Given the description of an element on the screen output the (x, y) to click on. 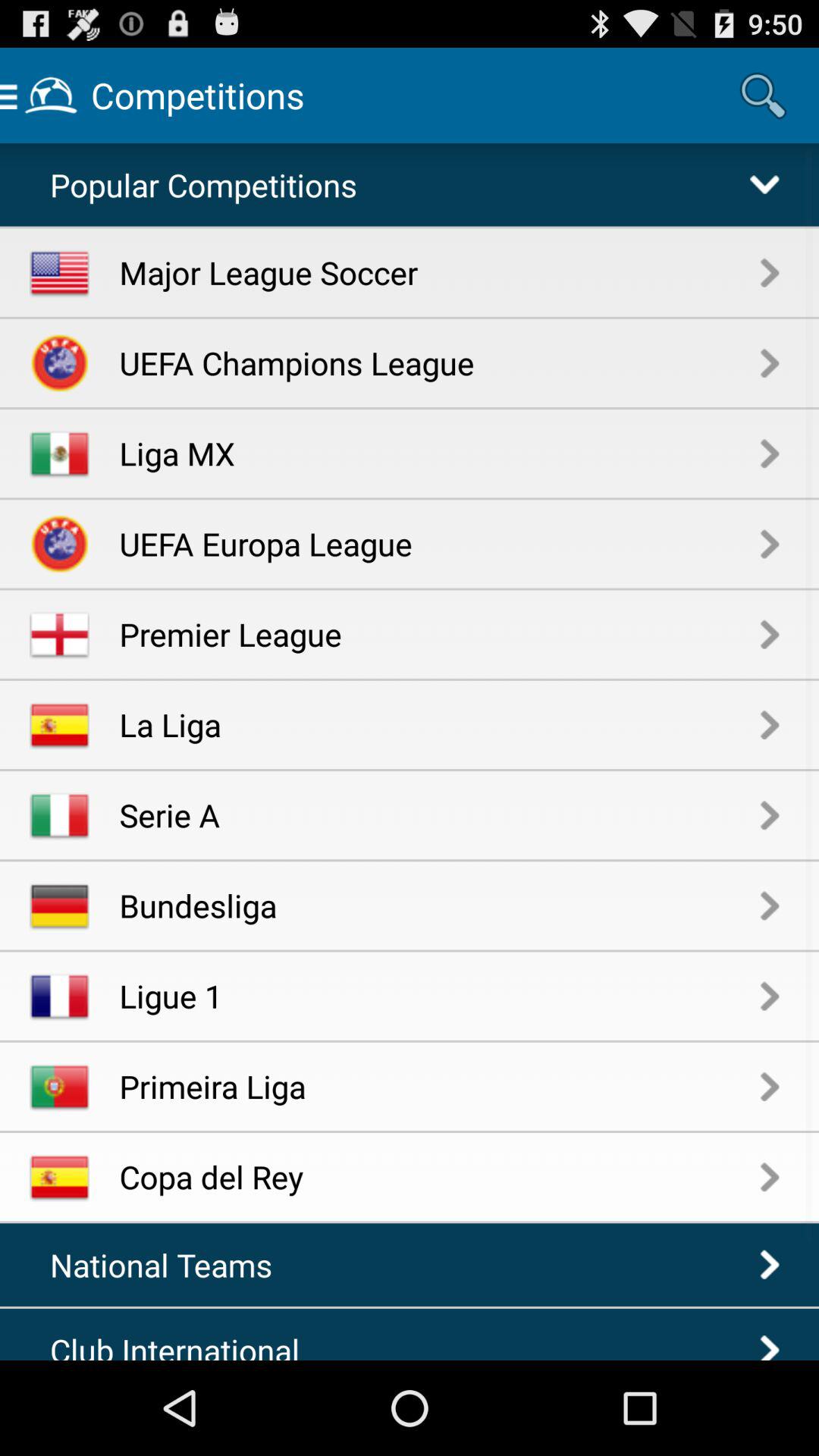
tap item above the bundesliga app (439, 814)
